Given the description of an element on the screen output the (x, y) to click on. 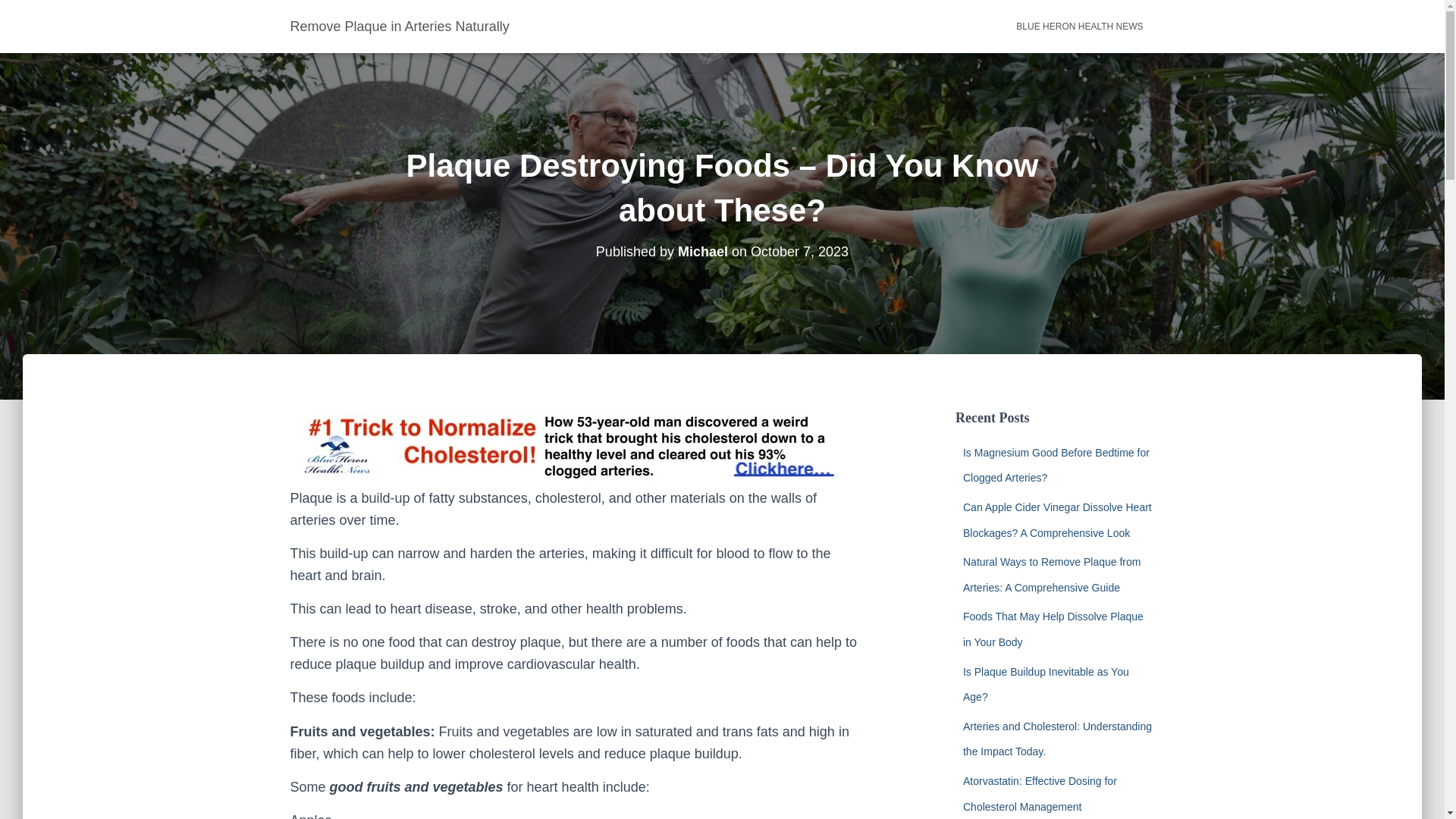
Foods That May Help Dissolve Plaque in Your Body (1052, 629)
Atorvastatin: Effective Dosing for Cholesterol Management (1039, 793)
Is Plaque Buildup Inevitable as You Age? (1045, 684)
Blue Heron Health News (1079, 26)
Arteries and Cholesterol: Understanding the Impact Today. (1056, 739)
Michael (703, 251)
Remove Plaque in Arteries Naturally (400, 26)
Remove Plaque in Arteries Naturally (400, 26)
